Given the description of an element on the screen output the (x, y) to click on. 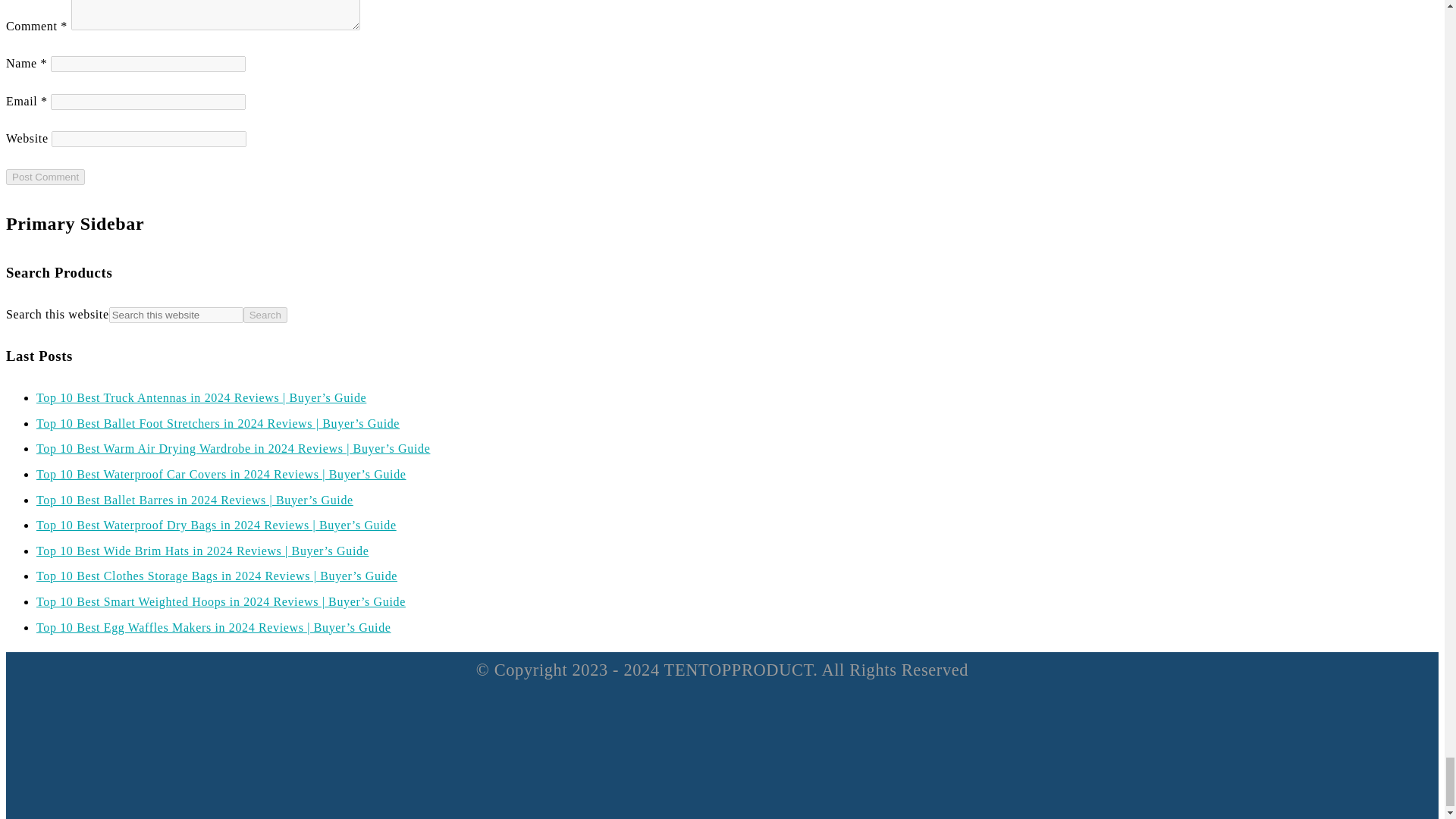
Post Comment (44, 176)
Search (264, 314)
Search (264, 314)
